Given the description of an element on the screen output the (x, y) to click on. 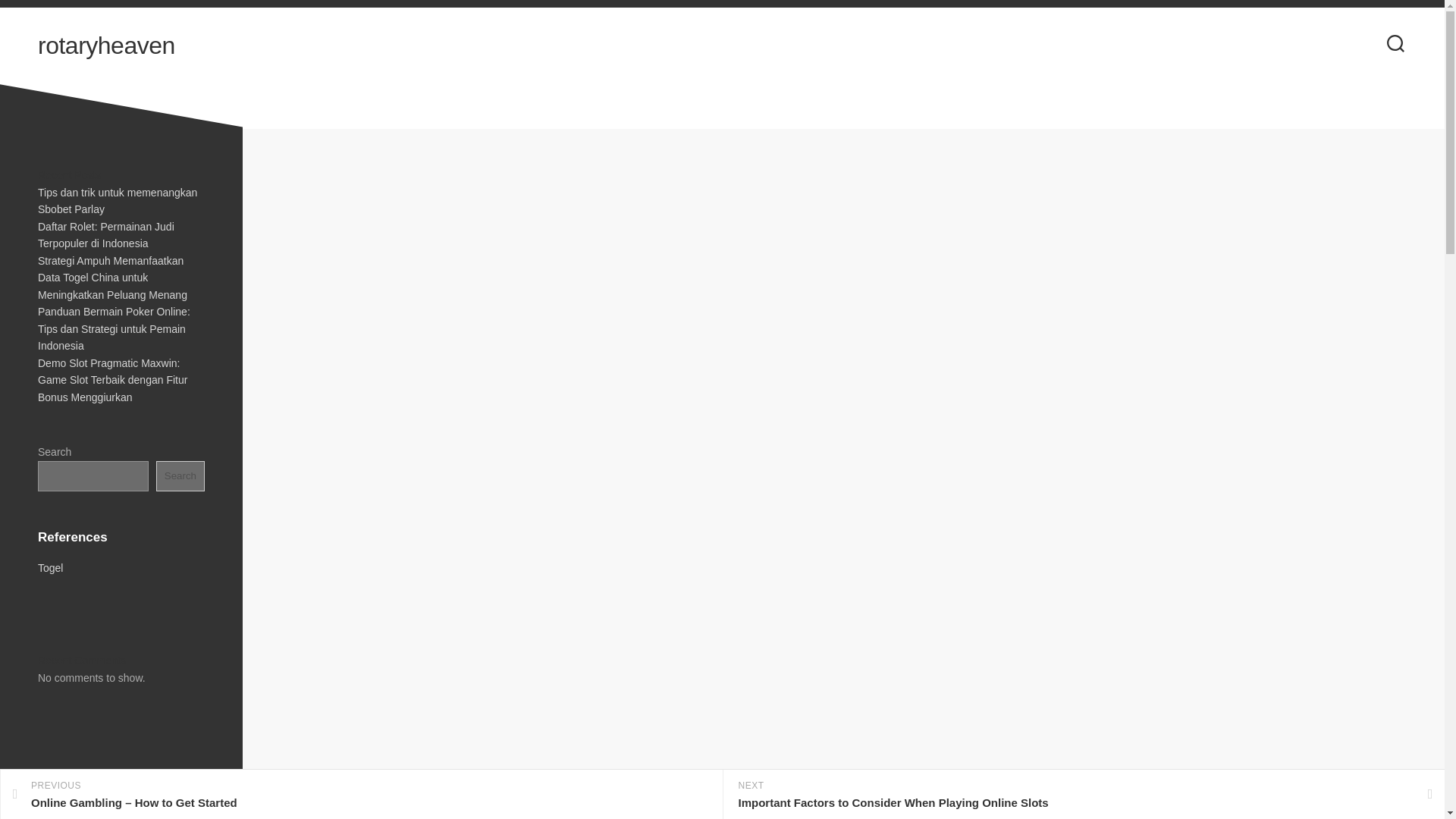
Posts by adminss (748, 281)
Daftar Rolet: Permainan Judi Terpopuler di Indonesia (105, 234)
Search (180, 476)
Togel (49, 567)
Gambling (806, 281)
adminss (748, 281)
Tips dan trik untuk memenangkan Sbobet Parlay (116, 201)
